Given the description of an element on the screen output the (x, y) to click on. 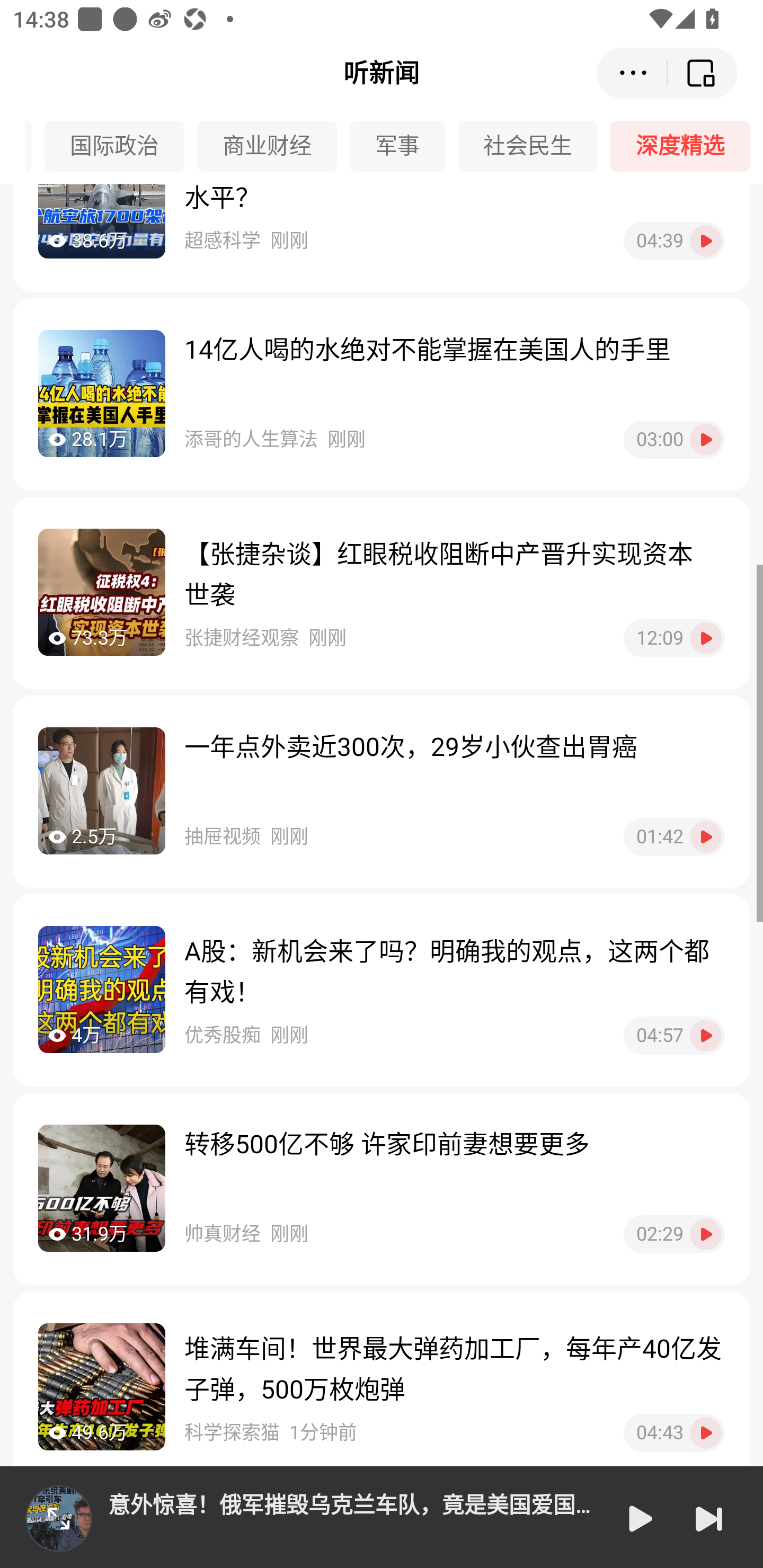
更多 (631, 72)
返回 (702, 72)
国际政治 (120, 146)
商业财经 (272, 146)
军事 (403, 146)
社会民生 (533, 146)
深度精选 (686, 146)
04:39 (673, 241)
28.1万 14亿人喝的水绝对不能掌握在美国人的手里 添哥的人生算法刚刚 03:00 (381, 393)
03:00 (673, 439)
73.3万 【张捷杂谈】红眼税收阻断中产晋升实现资本
世袭 张捷财经观察刚刚 12:09 (381, 593)
12:09 (673, 637)
2.5万 一年点外卖近300次，29岁小伙查出胃癌 抽屉视频刚刚 01:42 (381, 791)
01:42 (673, 837)
4万 A股：新机会来了吗？明确我的观点，这两个都有戏！ 优秀股痴刚刚 04:57 (381, 989)
04:57 (673, 1035)
31.9万 转移500亿不够 许家印前妻想要更多 帅真财经刚刚 02:29 (381, 1188)
02:29 (673, 1233)
04:43 (673, 1432)
音频播放页 意外惊喜！俄军摧毁乌克兰车队，竟是美国爱国者防空导弹 播放 下一篇 (381, 1517)
播放 (638, 1518)
下一篇 (708, 1518)
